Given the description of an element on the screen output the (x, y) to click on. 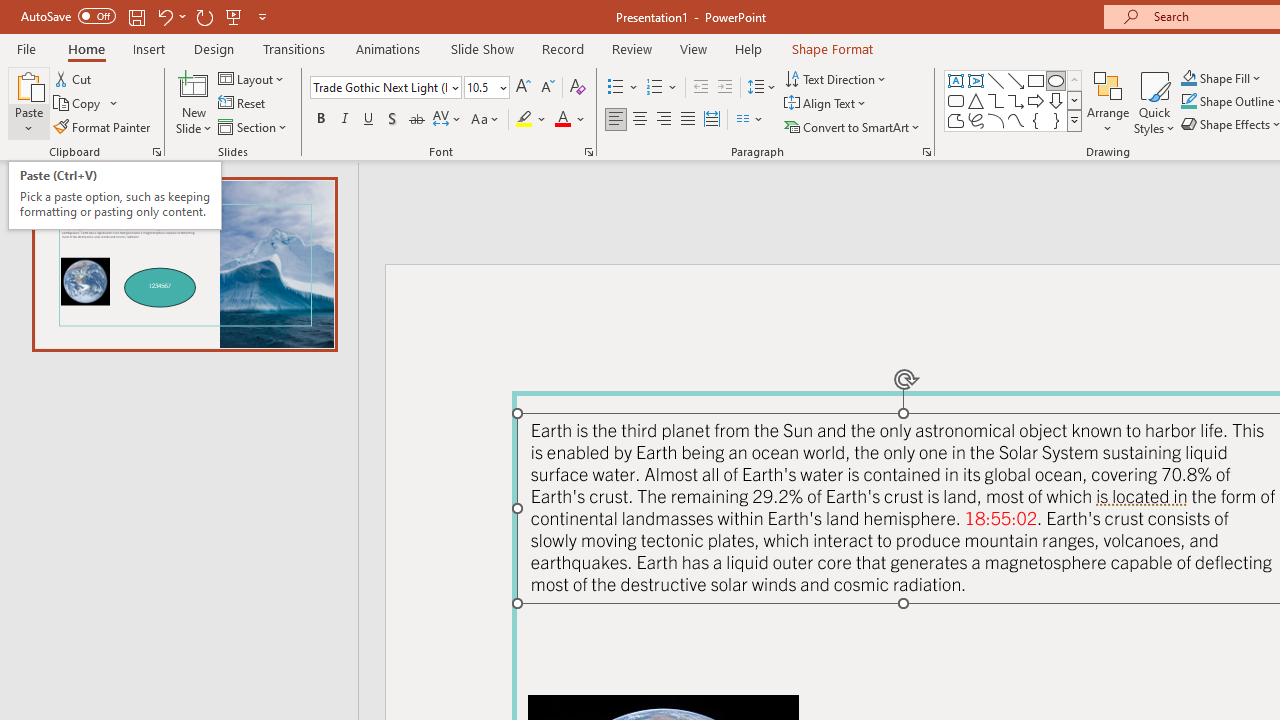
Shape Outline Teal, Accent 1 (1188, 101)
